Given the description of an element on the screen output the (x, y) to click on. 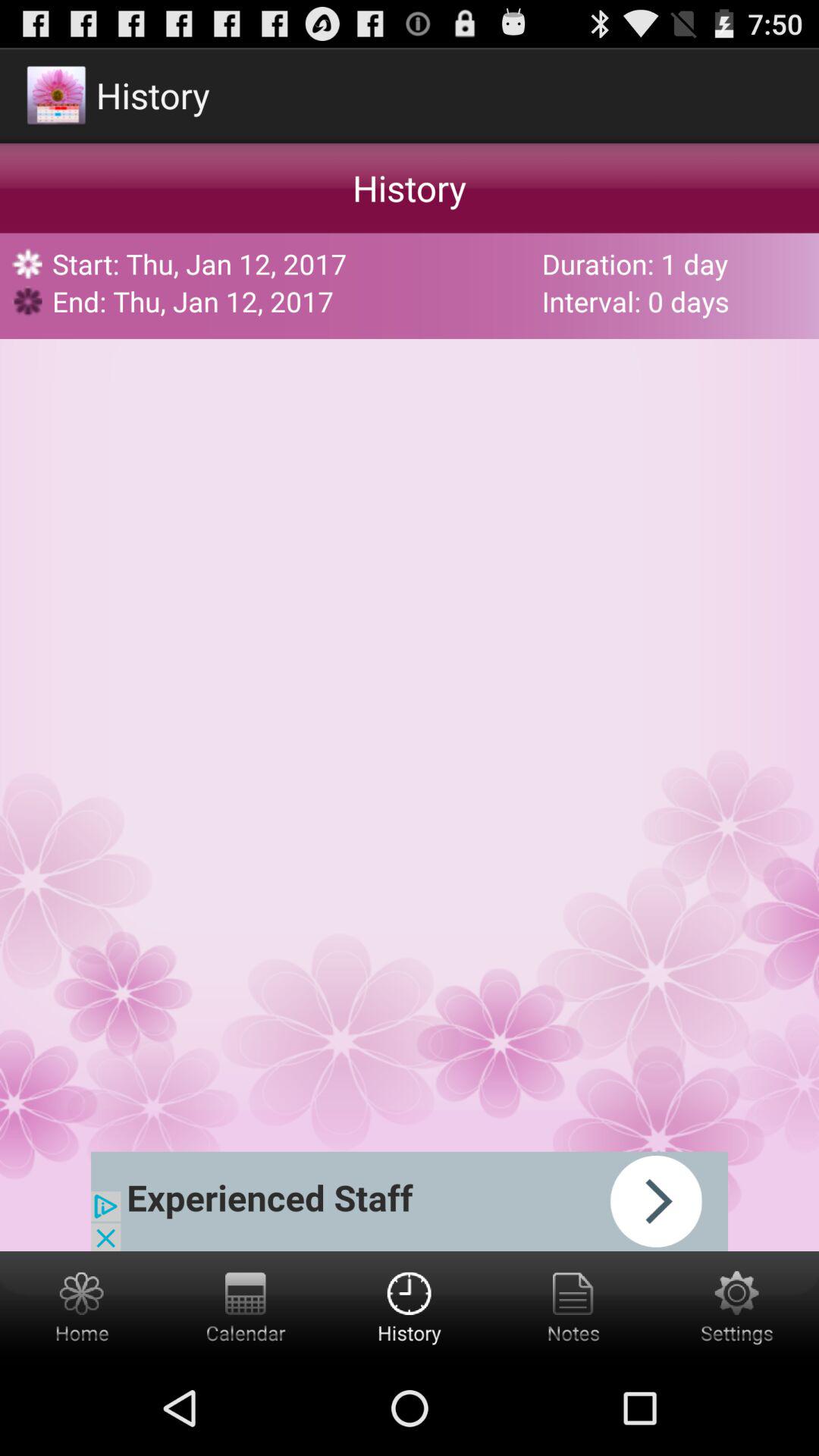
to note daily notes (573, 1305)
